Given the description of an element on the screen output the (x, y) to click on. 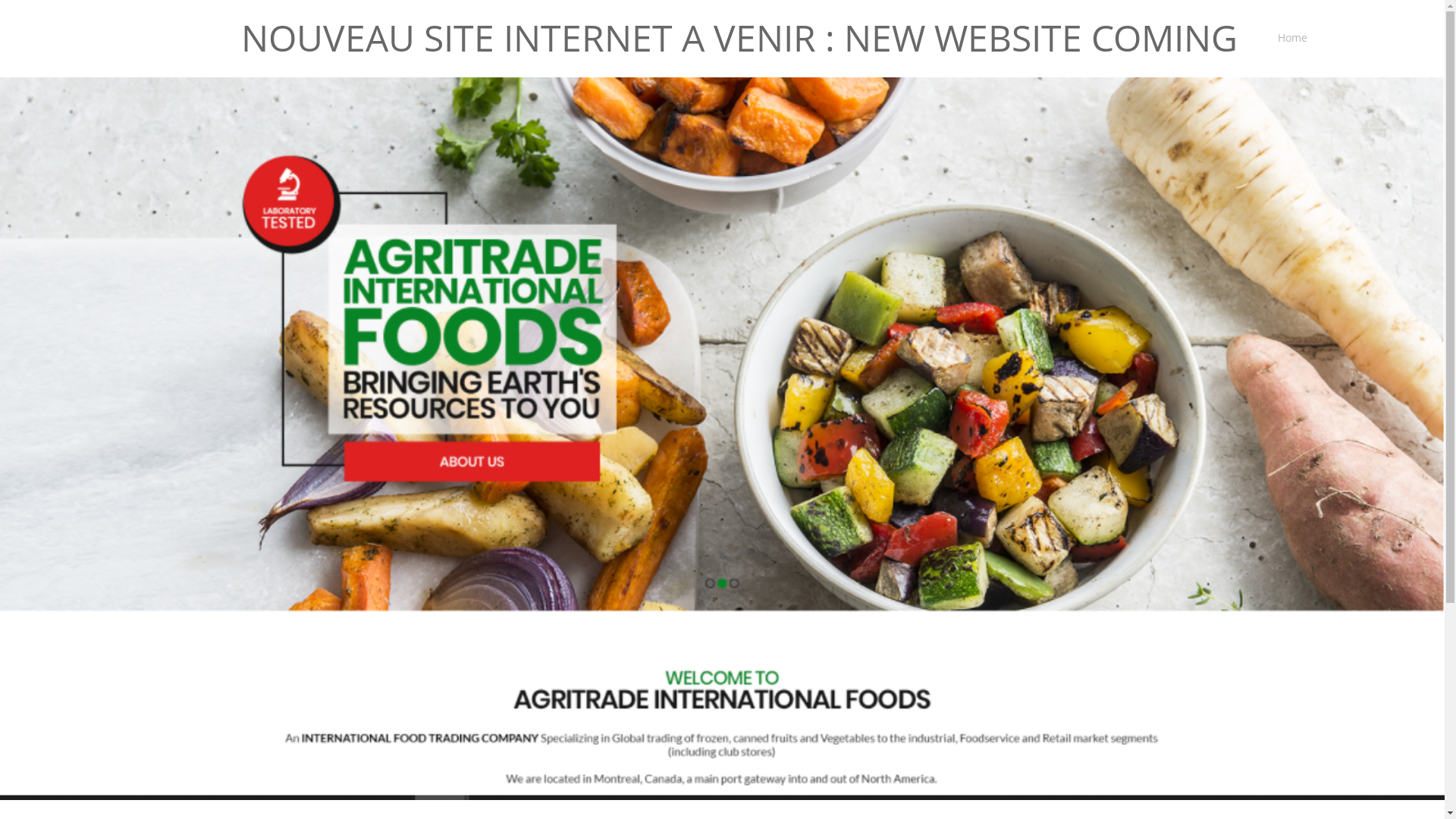
Home Element type: text (1286, 38)
NOUVEAU SITE INTERNET A VENIR : NEW WEBSITE COMING Element type: text (739, 37)
